Given the description of an element on the screen output the (x, y) to click on. 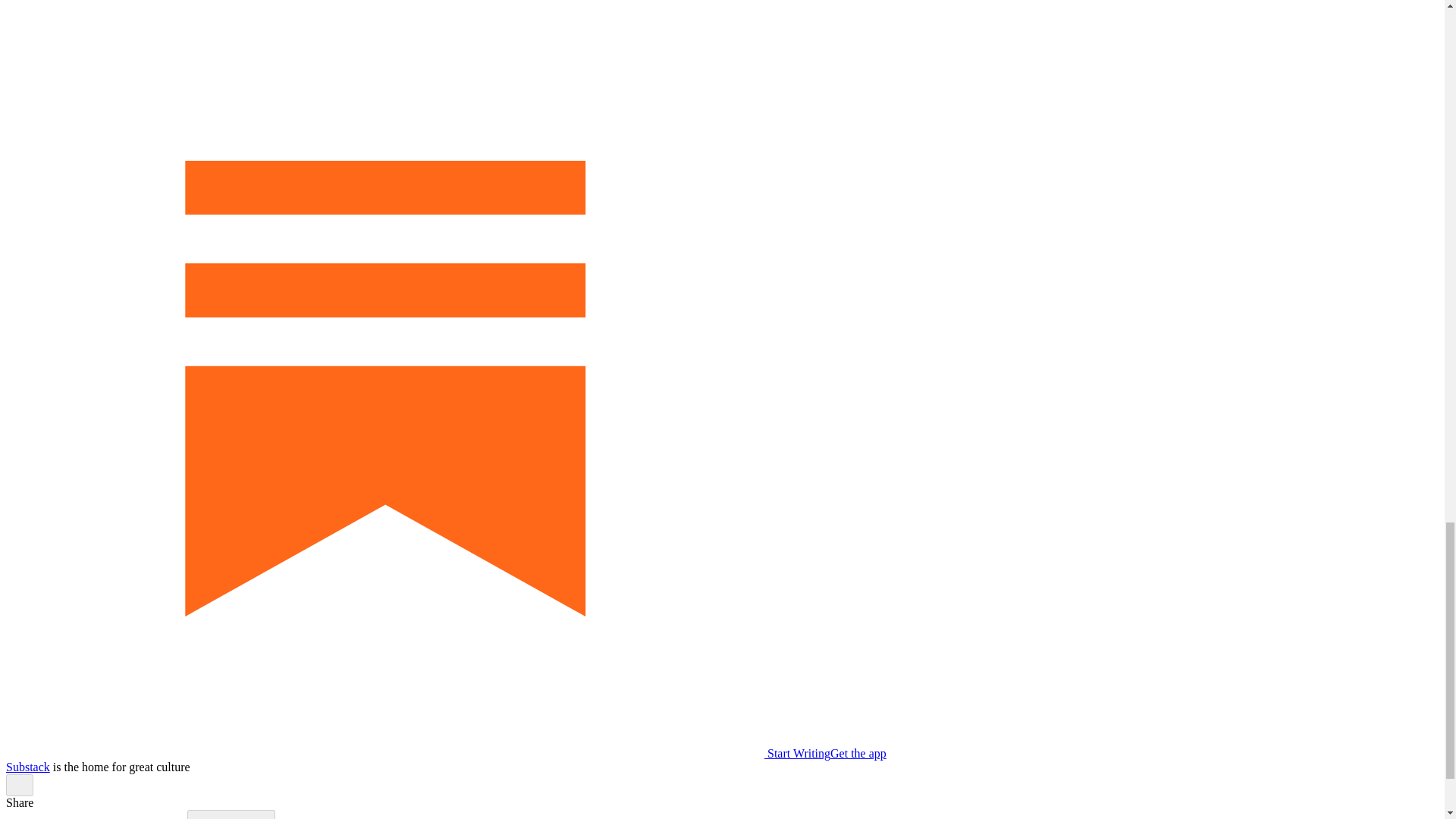
Substack (27, 766)
Get the app (857, 753)
Start Writing (417, 753)
